Given the description of an element on the screen output the (x, y) to click on. 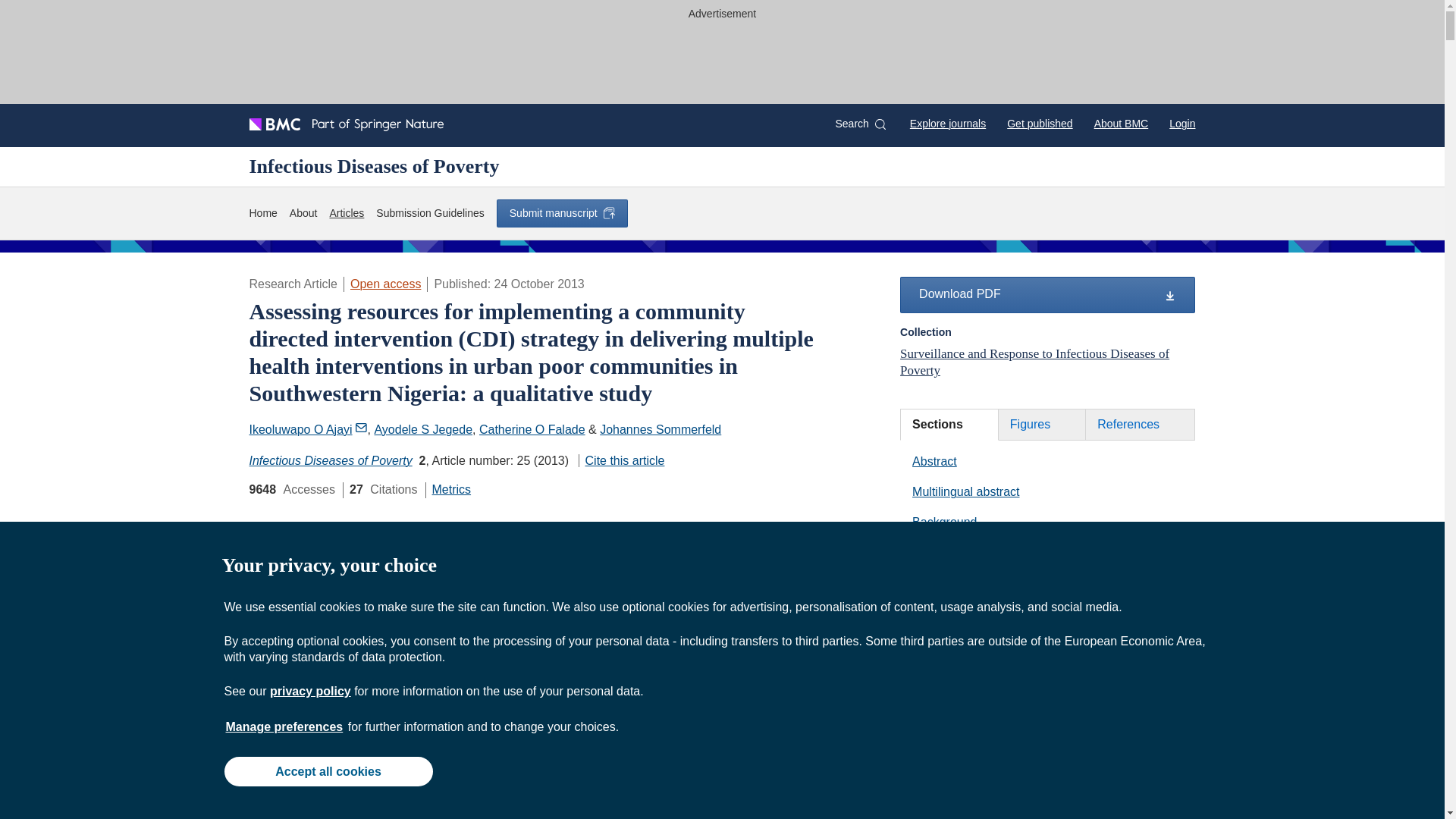
Johannes Sommerfeld (659, 429)
Ikeoluwapo O Ajayi (307, 429)
Submit manuscript (561, 212)
privacy policy (309, 690)
Explore journals (947, 123)
Accept all cookies (328, 771)
Login (1182, 123)
About (303, 212)
Infectious Diseases of Poverty (330, 460)
Get published (1039, 123)
